Given the description of an element on the screen output the (x, y) to click on. 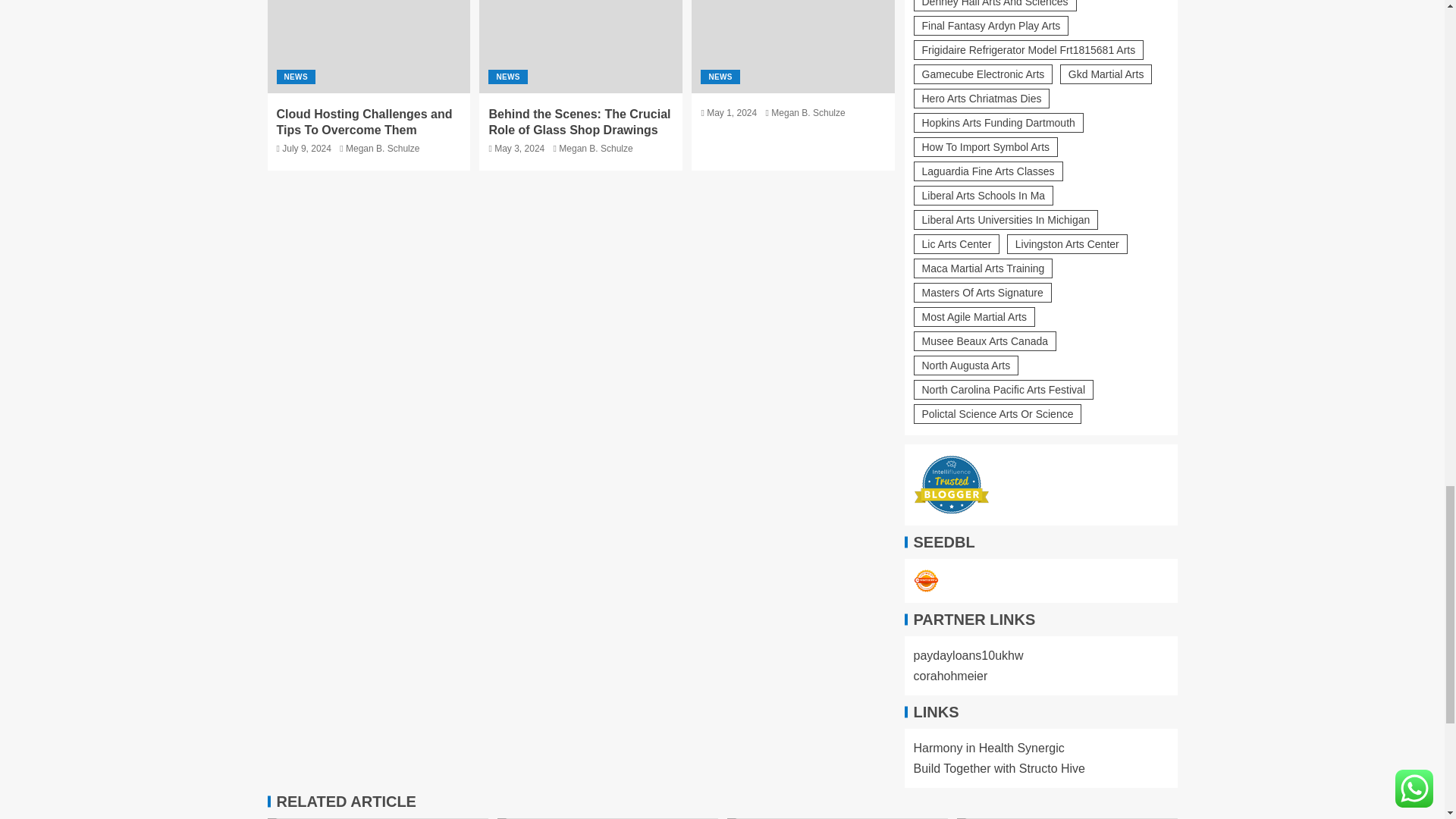
Megan B. Schulze (382, 148)
Behind the Scenes: The Crucial Role of Glass Shop Drawings (578, 121)
Cloud Hosting Challenges and Tips To Overcome Them (363, 121)
NEWS (295, 76)
NEWS (507, 76)
Cloud Hosting Challenges and Tips To Overcome Them (368, 46)
Seedbacklink (925, 580)
